Given the description of an element on the screen output the (x, y) to click on. 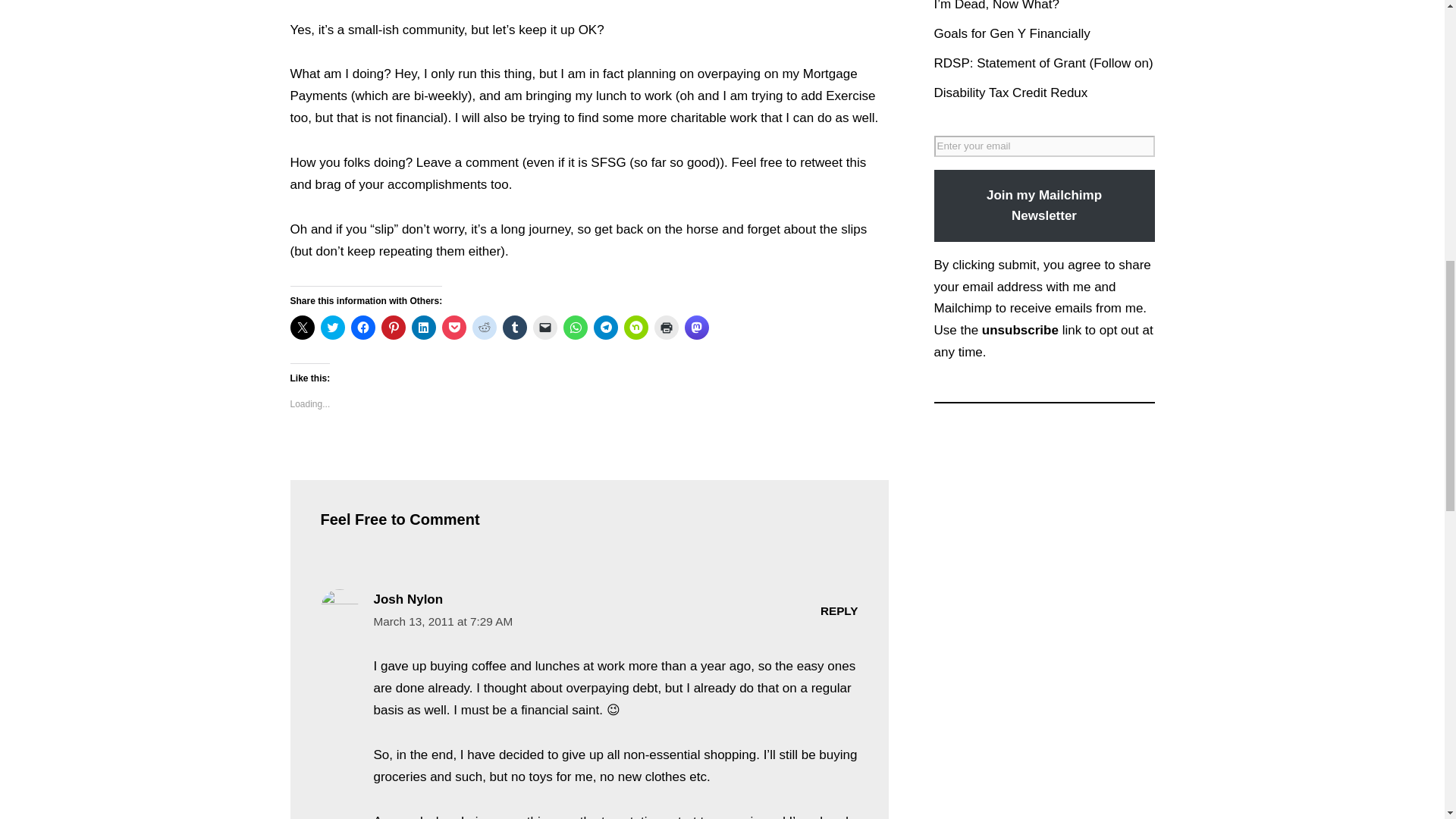
Click to share on Twitter (331, 327)
Click to share on Facebook (362, 327)
Click to share on Pinterest (392, 327)
Click to share on X (301, 327)
